Given the description of an element on the screen output the (x, y) to click on. 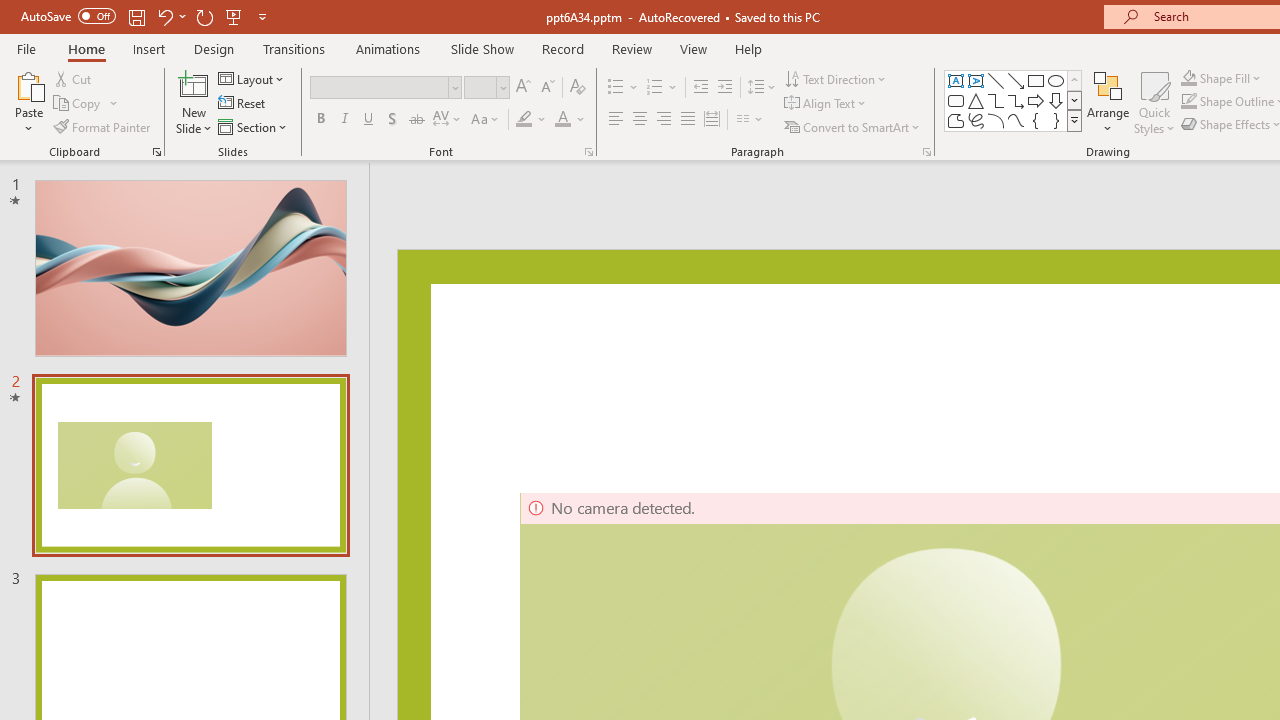
Row Down (1074, 100)
Decrease Font Size (547, 87)
Font Color (562, 119)
Align Left (616, 119)
Section (254, 126)
Rectangle (1035, 80)
Save (136, 15)
Text Highlight Color (524, 119)
Isosceles Triangle (975, 100)
Layout (252, 78)
